Given the description of an element on the screen output the (x, y) to click on. 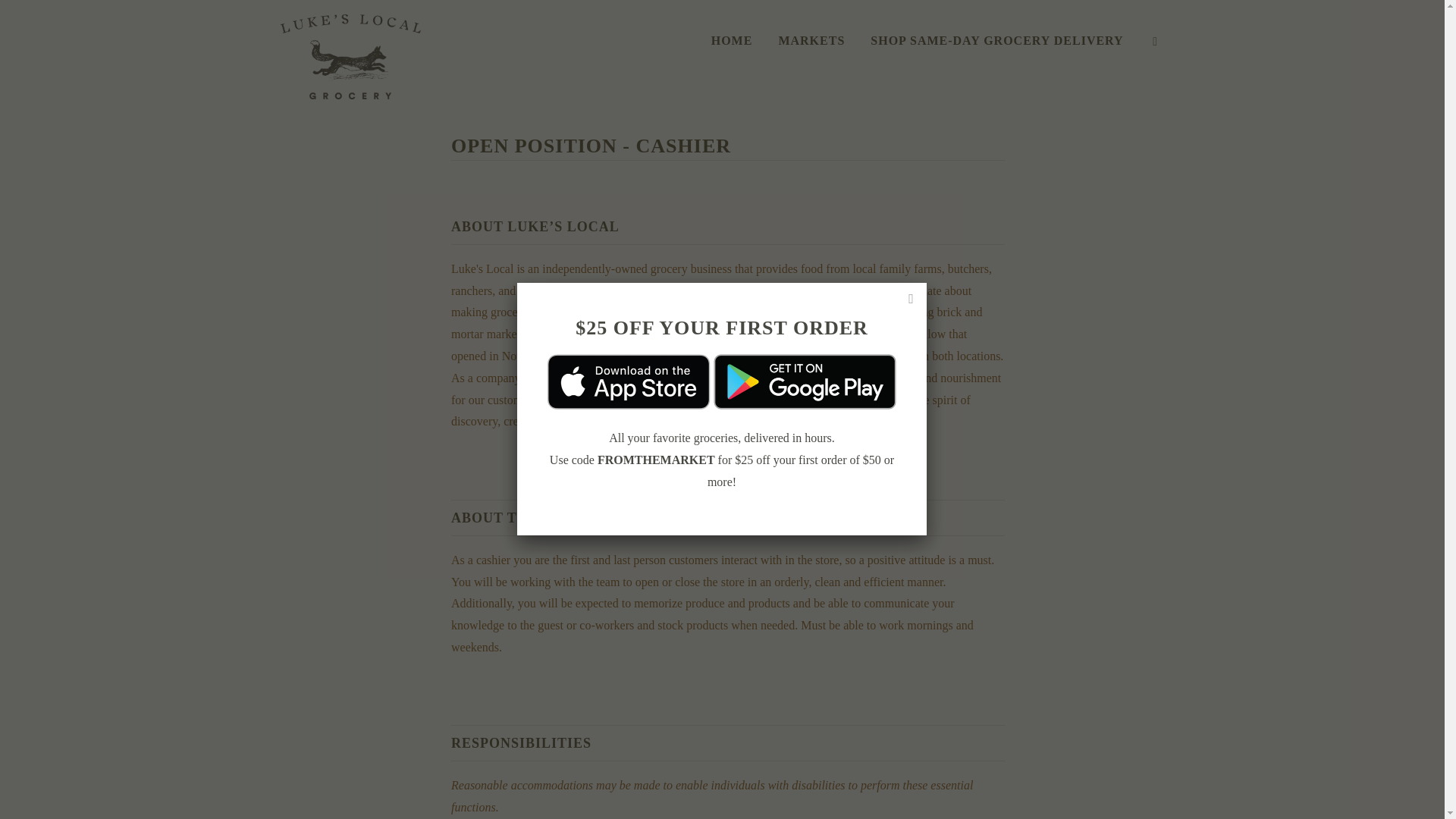
Luke's Local (350, 55)
SHOP SAME-DAY GROCERY DELIVERY (996, 44)
HOME (731, 44)
Search (1156, 44)
Close (911, 298)
MARKETS (810, 44)
